Given the description of an element on the screen output the (x, y) to click on. 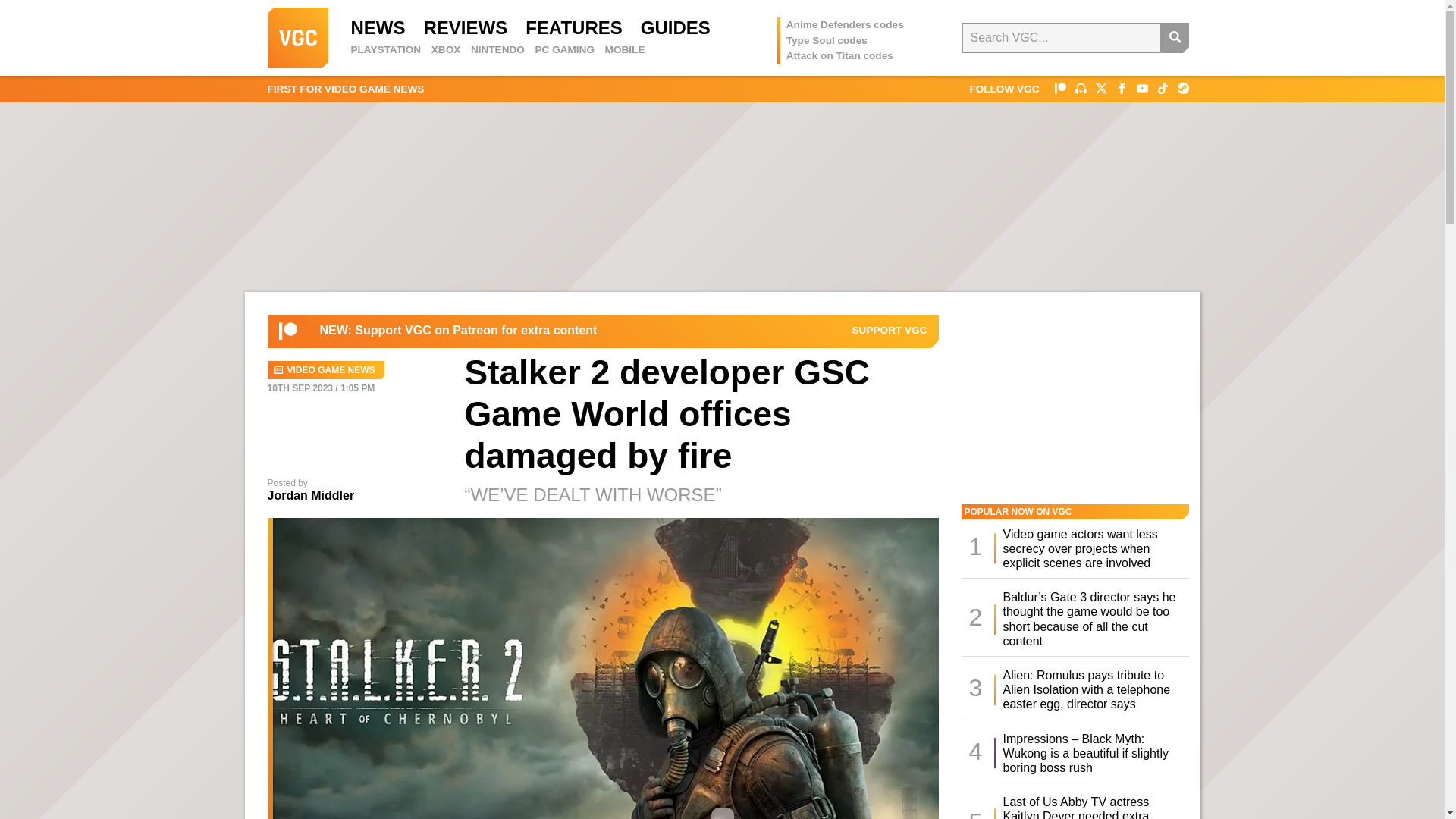
Posts by Jordan Middler (309, 495)
GUIDES (675, 27)
Jordan Middler (309, 495)
PC GAMING (564, 49)
Anime Defenders codes (845, 24)
VGC on Patreon (889, 330)
Type Soul codes (826, 40)
PLAYSTATION (385, 49)
Attack on Titan codes (839, 55)
VIDEO GAME NEWS (325, 370)
